Given the description of an element on the screen output the (x, y) to click on. 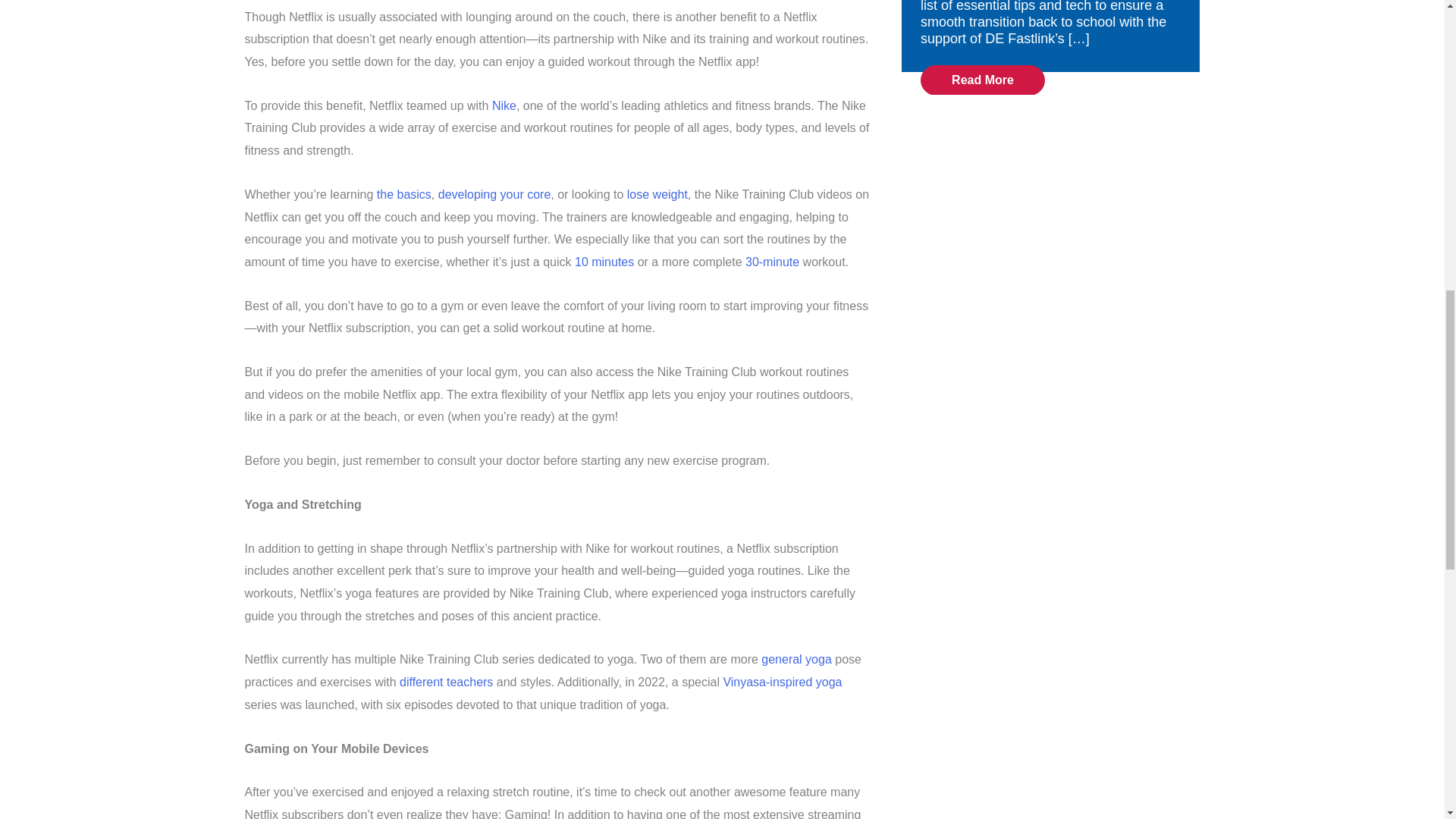
Nike (504, 105)
developing your core (494, 194)
Click Here (982, 80)
the basics (403, 194)
